Given the description of an element on the screen output the (x, y) to click on. 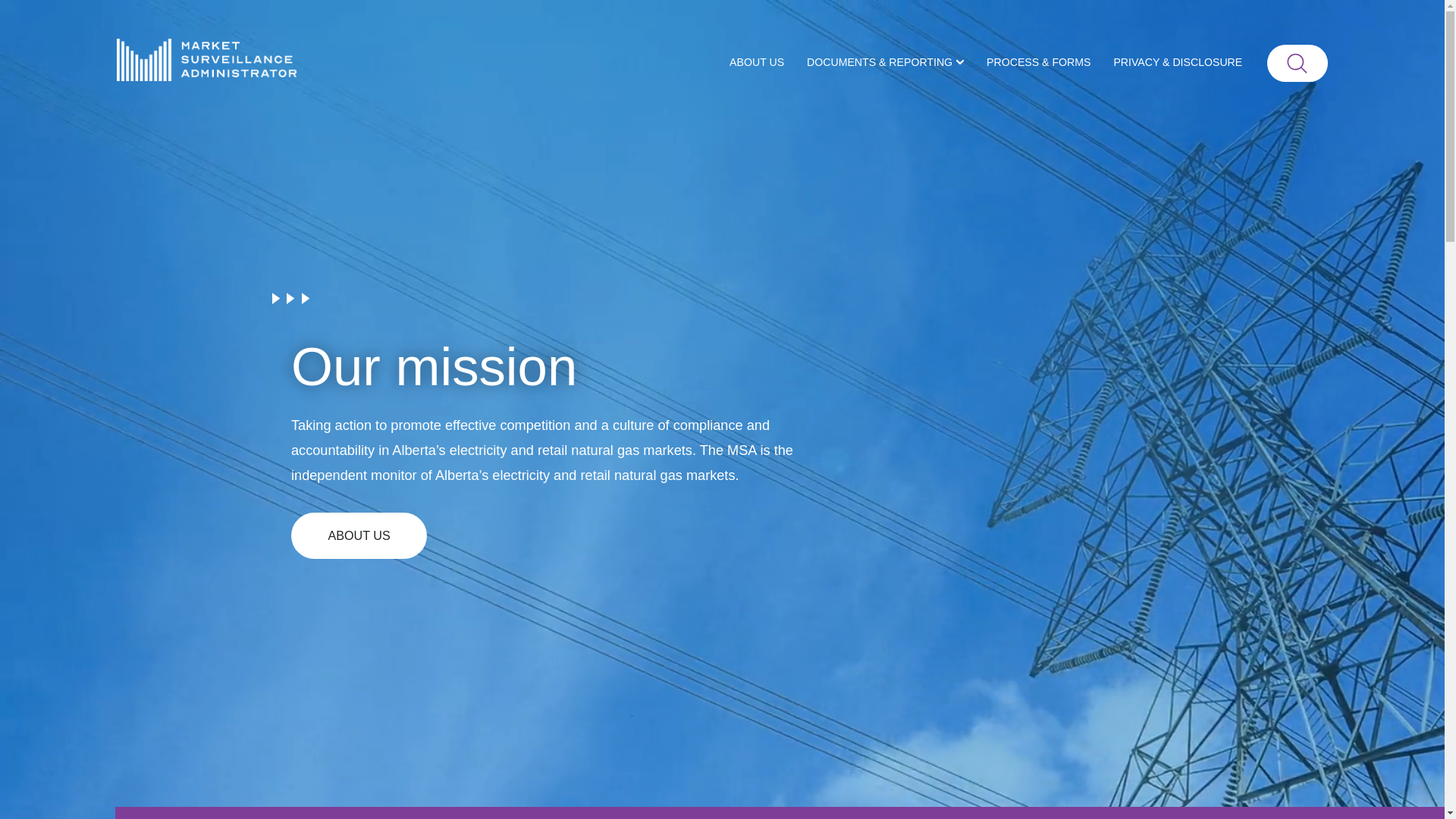
ABOUT US Element type: text (358, 535)
PROCESS & FORMS Element type: text (1038, 63)
ABOUT US Element type: text (756, 63)
DOCUMENTS & REPORTING Element type: text (884, 63)
PRIVACY & DISCLOSURE Element type: text (1177, 63)
